Given the description of an element on the screen output the (x, y) to click on. 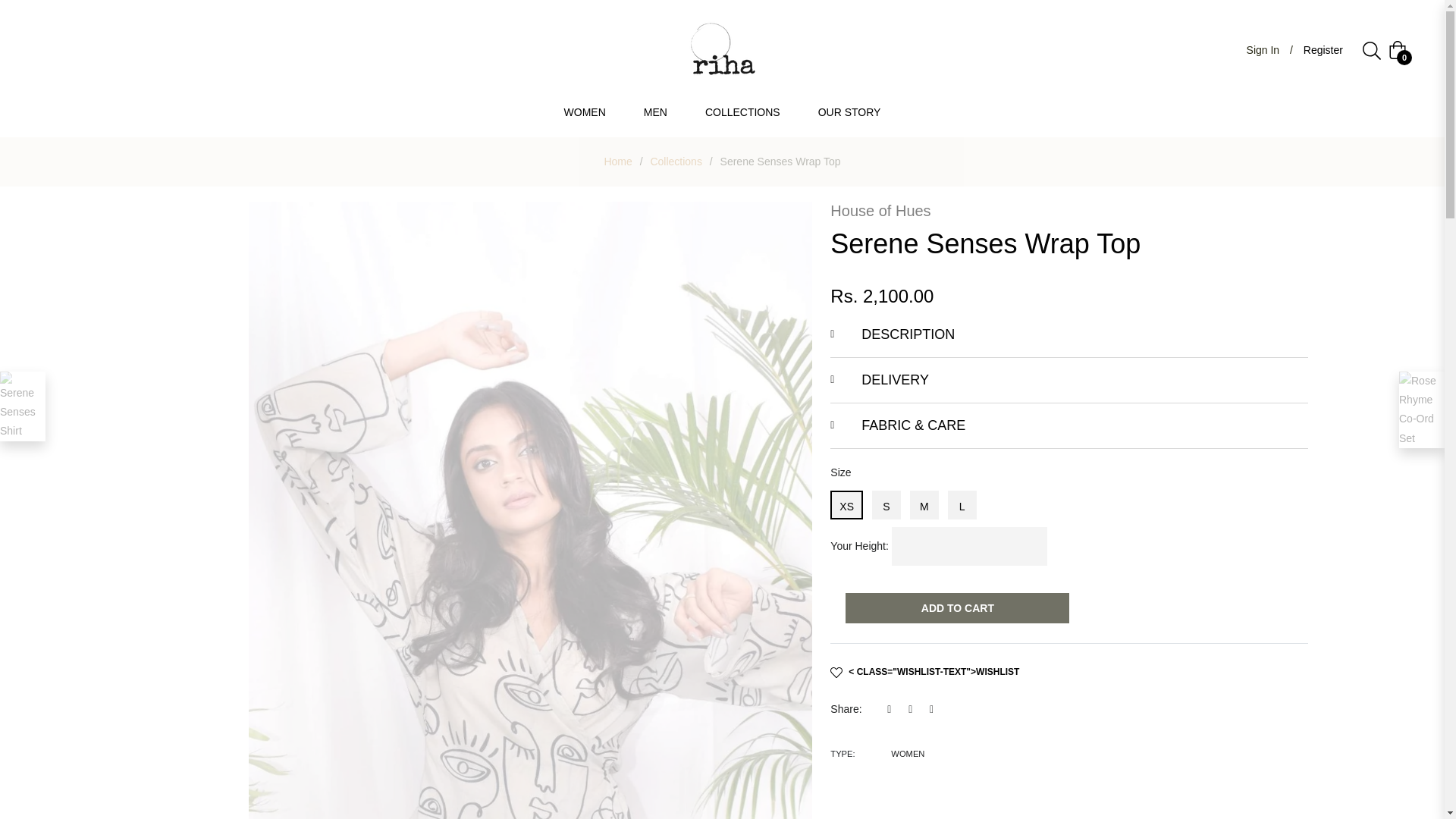
Sign In (1263, 49)
Home (617, 160)
OUR STORY (849, 112)
Wishlist (924, 671)
Register (1323, 49)
Share on Facebook (893, 707)
COLLECTIONS (742, 112)
Shopping Cart (1397, 49)
